Given the description of an element on the screen output the (x, y) to click on. 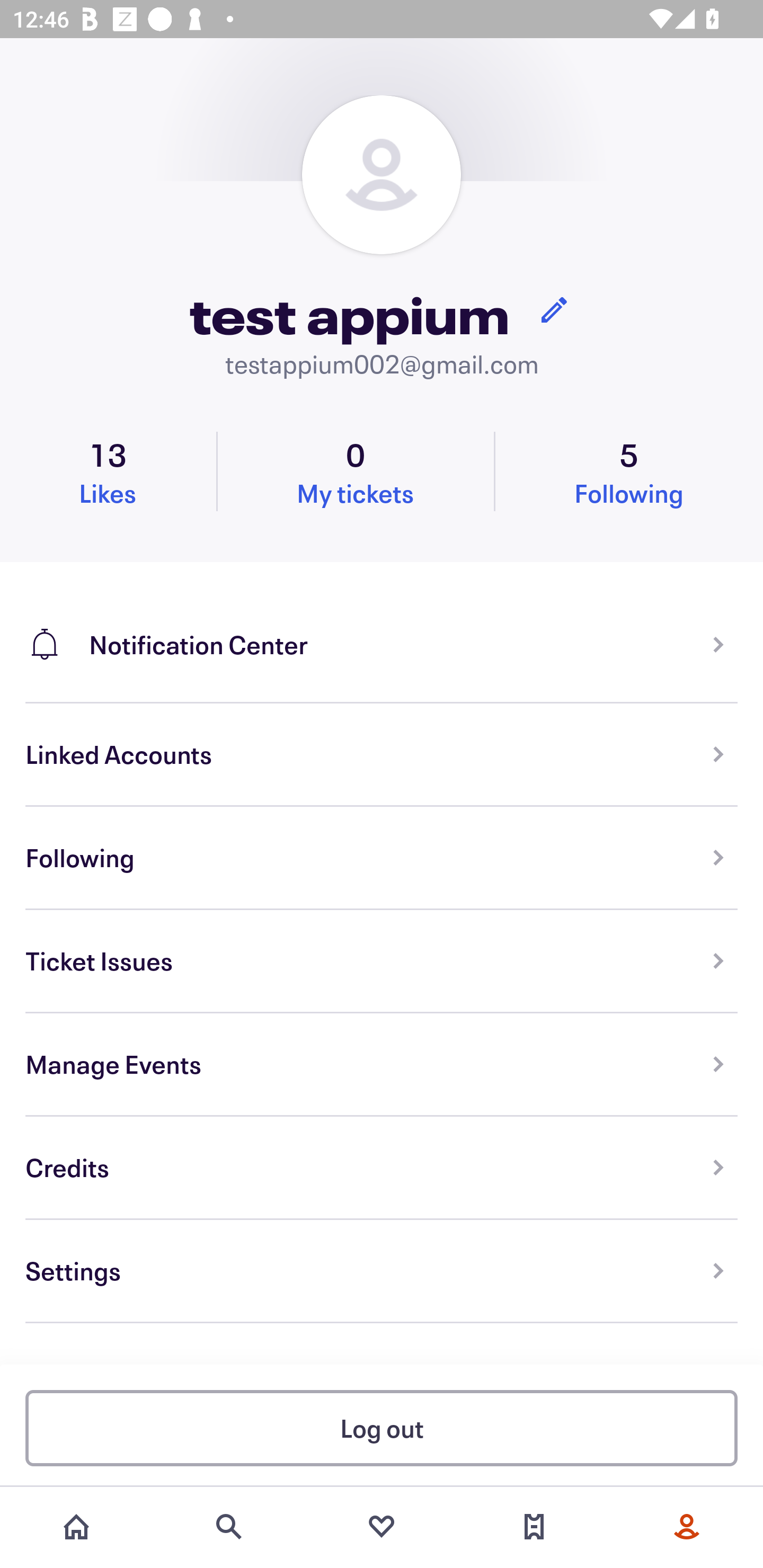
test appium testappium002@gmail.com (381, 238)
13 Likes (107, 470)
0 My tickets (355, 470)
5 Following (629, 470)
Notification Center (381, 632)
Linked Accounts (381, 755)
Following (381, 858)
Ticket Issues (381, 960)
Manage Events (381, 1064)
Credits (381, 1167)
Settings (381, 1271)
Log out (381, 1427)
Home (76, 1526)
Search events (228, 1526)
Favorites (381, 1526)
Tickets (533, 1526)
More (686, 1526)
